Given the description of an element on the screen output the (x, y) to click on. 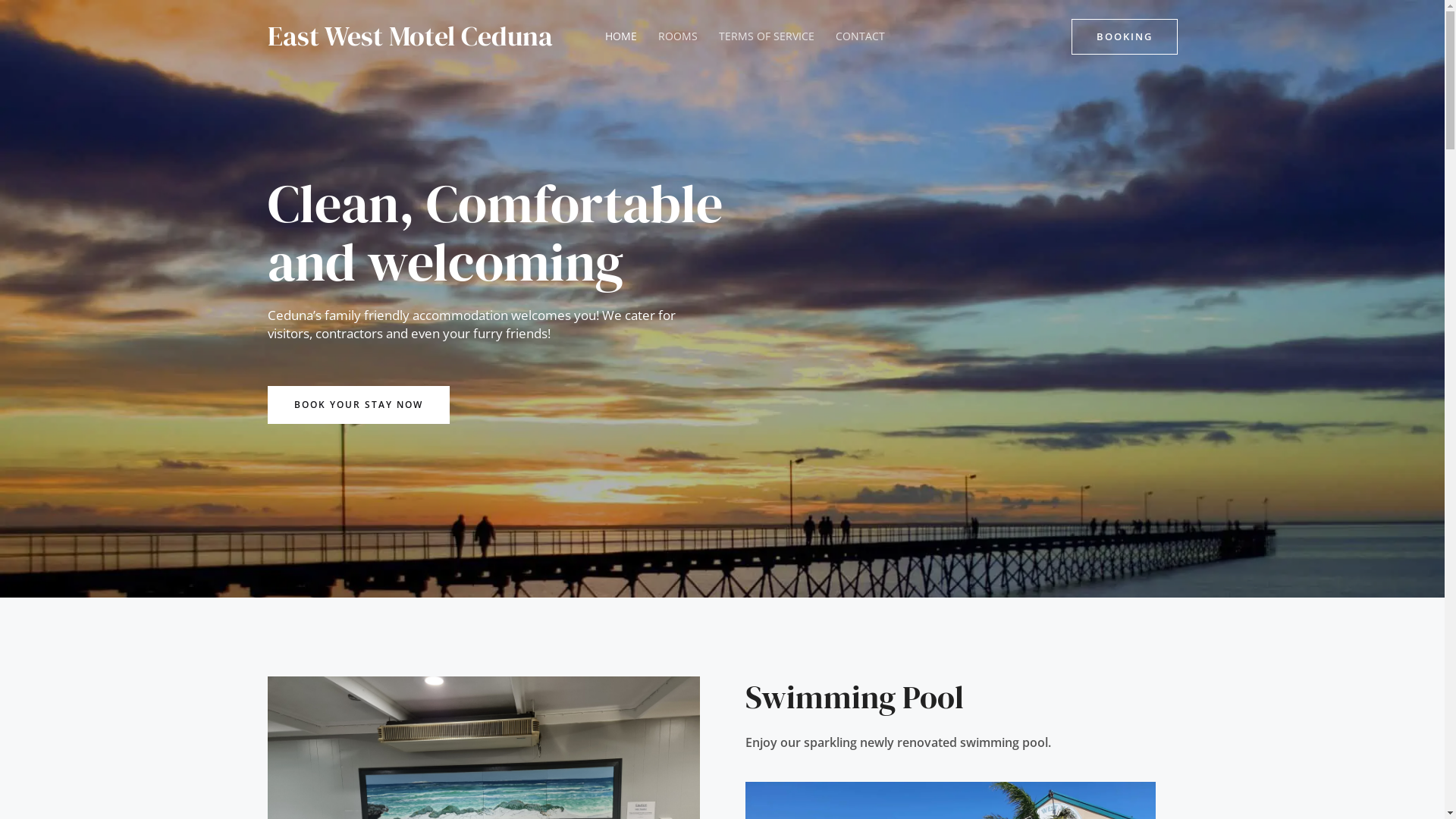
CONTACT Element type: text (860, 36)
East West Motel Ceduna Element type: text (409, 35)
TERMS OF SERVICE Element type: text (766, 36)
HOME Element type: text (620, 36)
BOOK YOUR STAY NOW Element type: text (357, 404)
BOOKING Element type: text (1123, 35)
ROOMS Element type: text (677, 36)
